Given the description of an element on the screen output the (x, y) to click on. 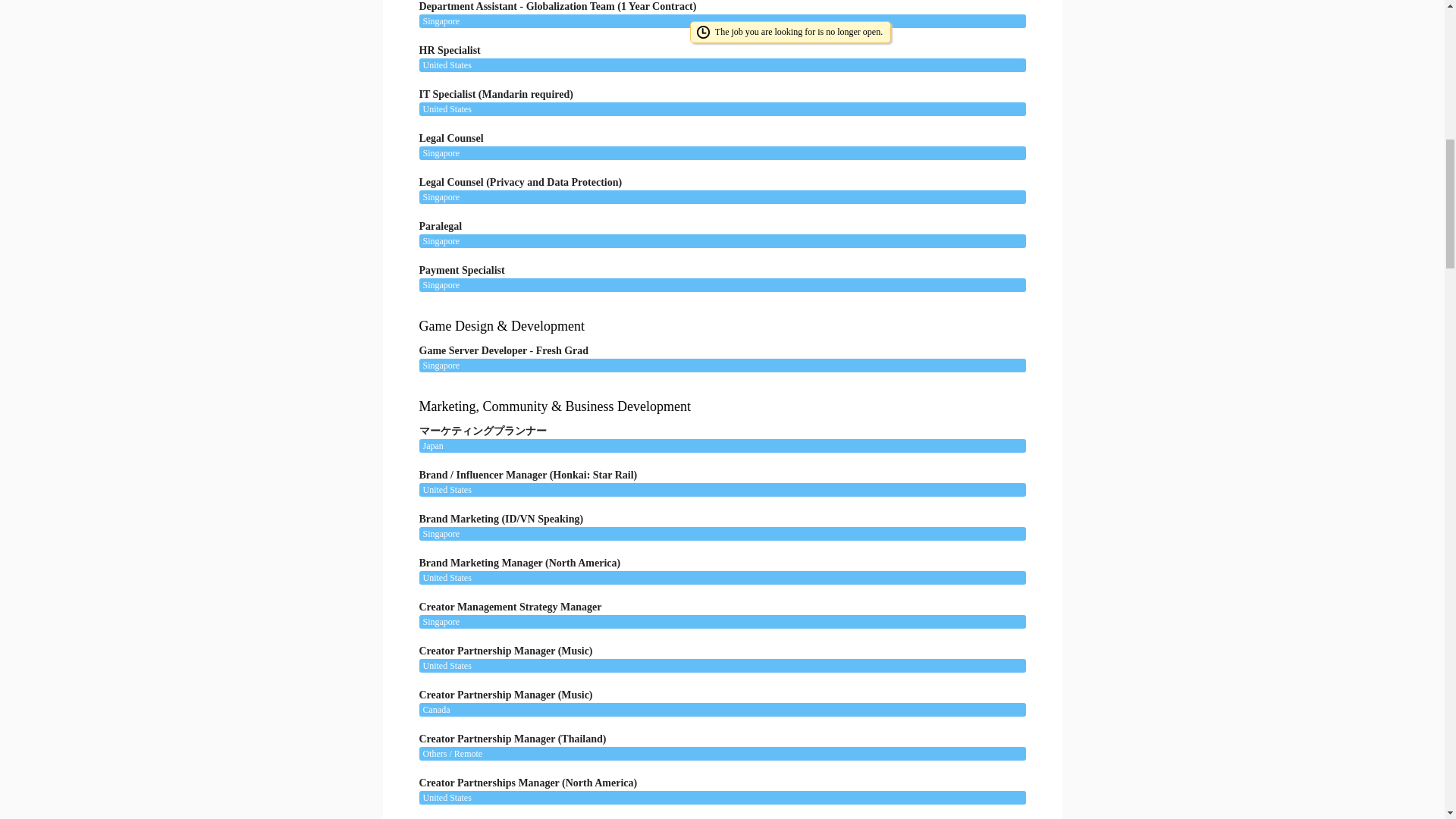
Legal Counsel (714, 143)
Paralegal (714, 230)
Payment Specialist (714, 274)
HR Specialist (714, 55)
Creator Management Strategy Manager (714, 611)
Game Server Developer - Fresh Grad (714, 355)
